Given the description of an element on the screen output the (x, y) to click on. 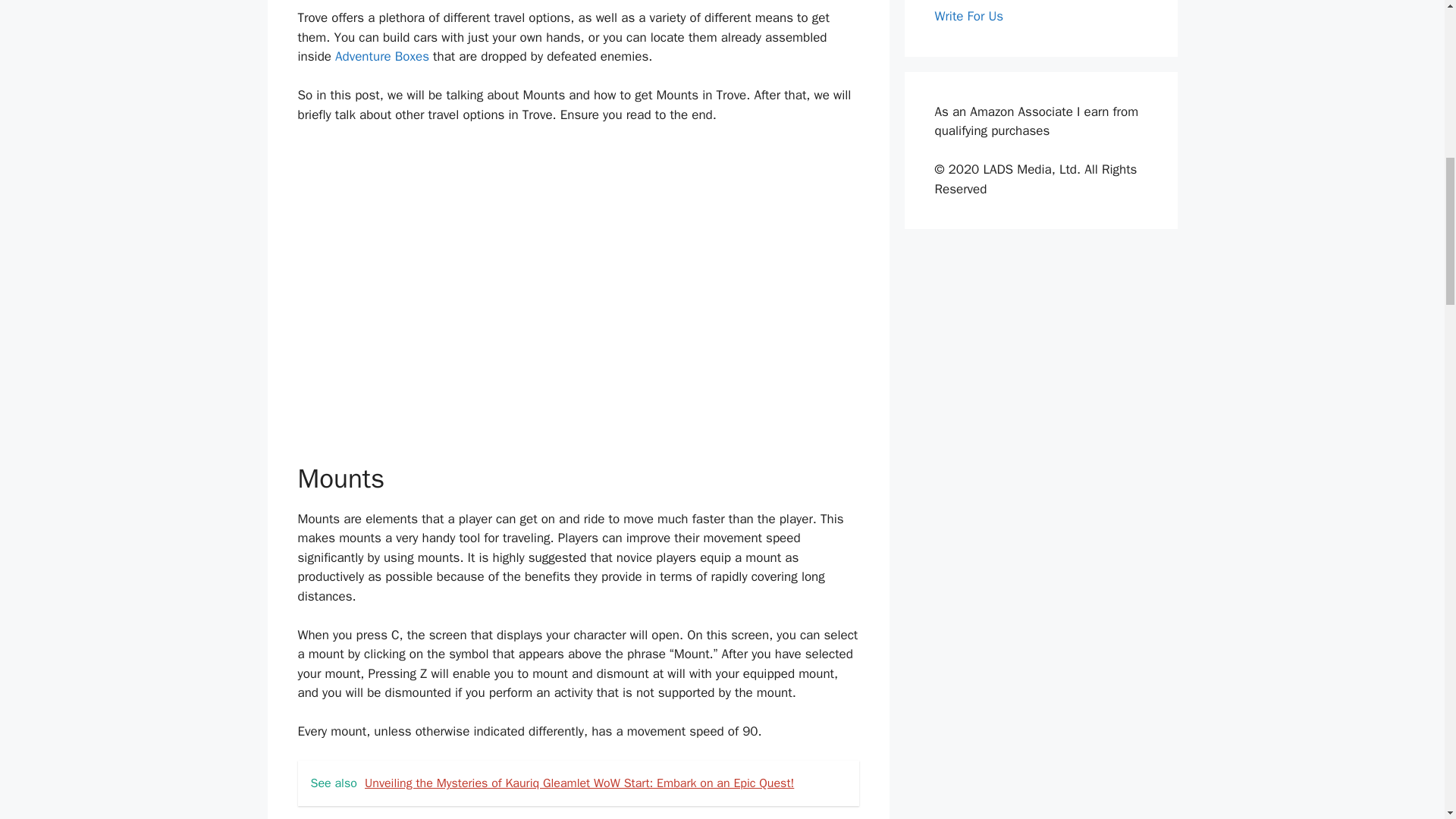
Adventure Boxes (381, 56)
